Given the description of an element on the screen output the (x, y) to click on. 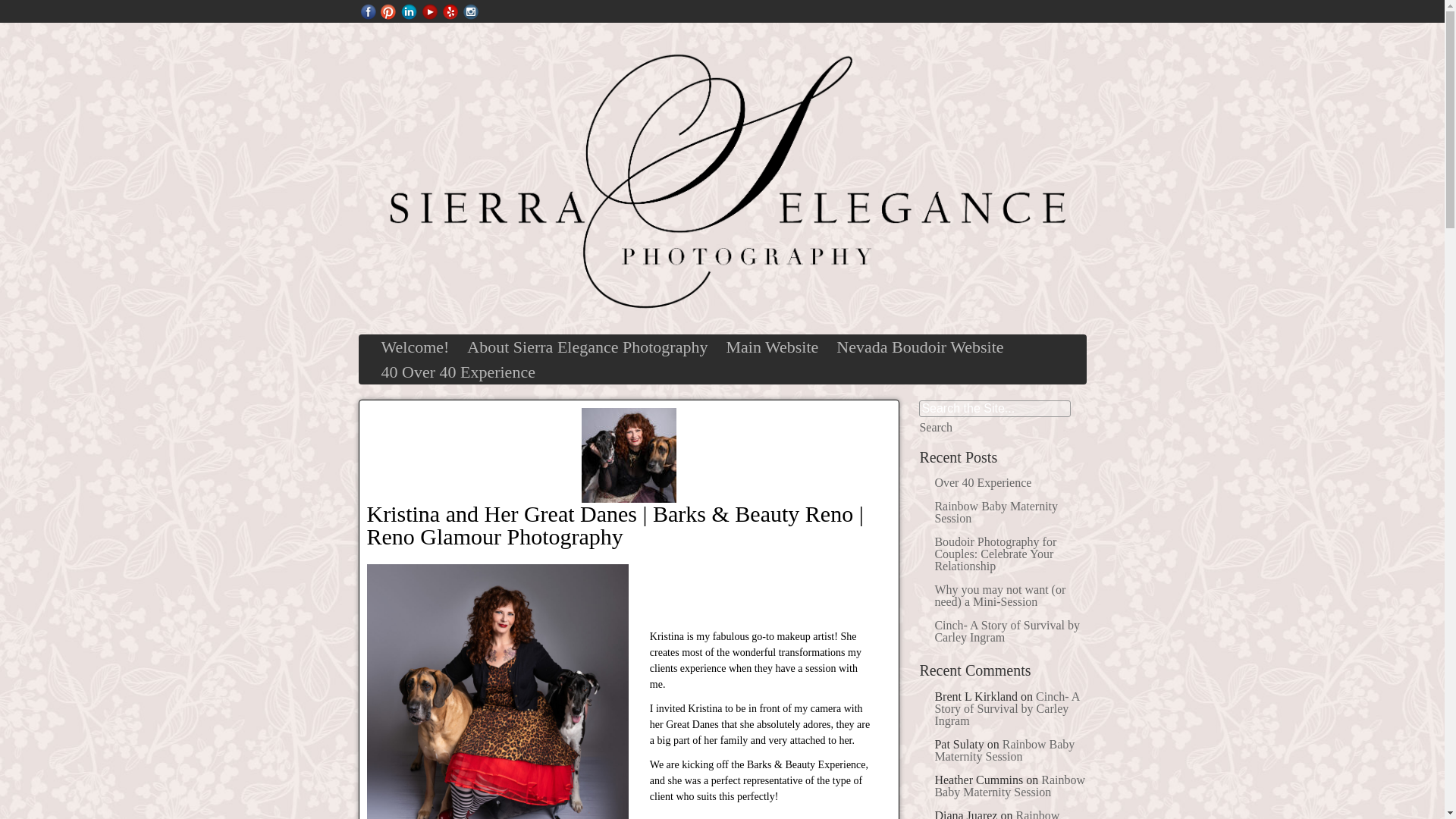
Rainbow Baby Maternity Session (1009, 785)
About Sierra Elegance Photography (587, 346)
Rainbow Baby Maternity Session (996, 511)
Over 40 Experience (982, 481)
Main Website (771, 346)
Nevada Boudoir (919, 346)
Cinch- A Story of Survival by Carley Ingram (1006, 708)
Rainbow Baby Maternity Session (1004, 749)
Boudoir Photography for Couples: Celebrate Your Relationship (995, 553)
Search (946, 427)
Search (946, 427)
Rainbow Baby Maternity Session (996, 814)
40 Over 40 Experience (456, 371)
Nevada Boudoir Website (919, 346)
Welcome! (414, 346)
